Given the description of an element on the screen output the (x, y) to click on. 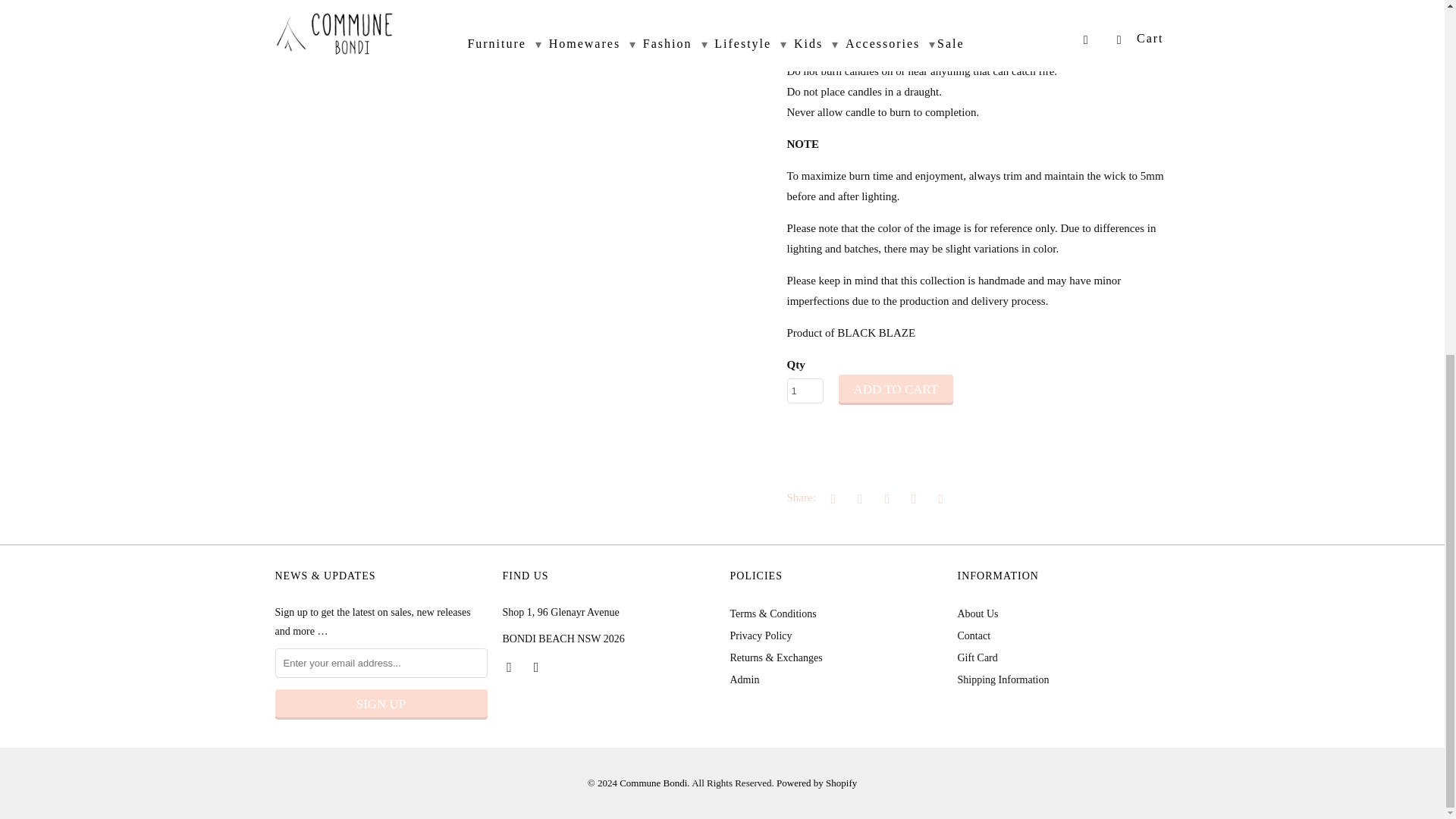
Commune Bondi on Facebook (510, 666)
Commune Bondi on Instagram (537, 666)
Admin (743, 679)
Contact (973, 635)
About Us (976, 613)
Contact (560, 612)
Email this to a friend (938, 498)
Share this on Facebook (857, 498)
Sign Up (380, 704)
Contact (563, 638)
